Given the description of an element on the screen output the (x, y) to click on. 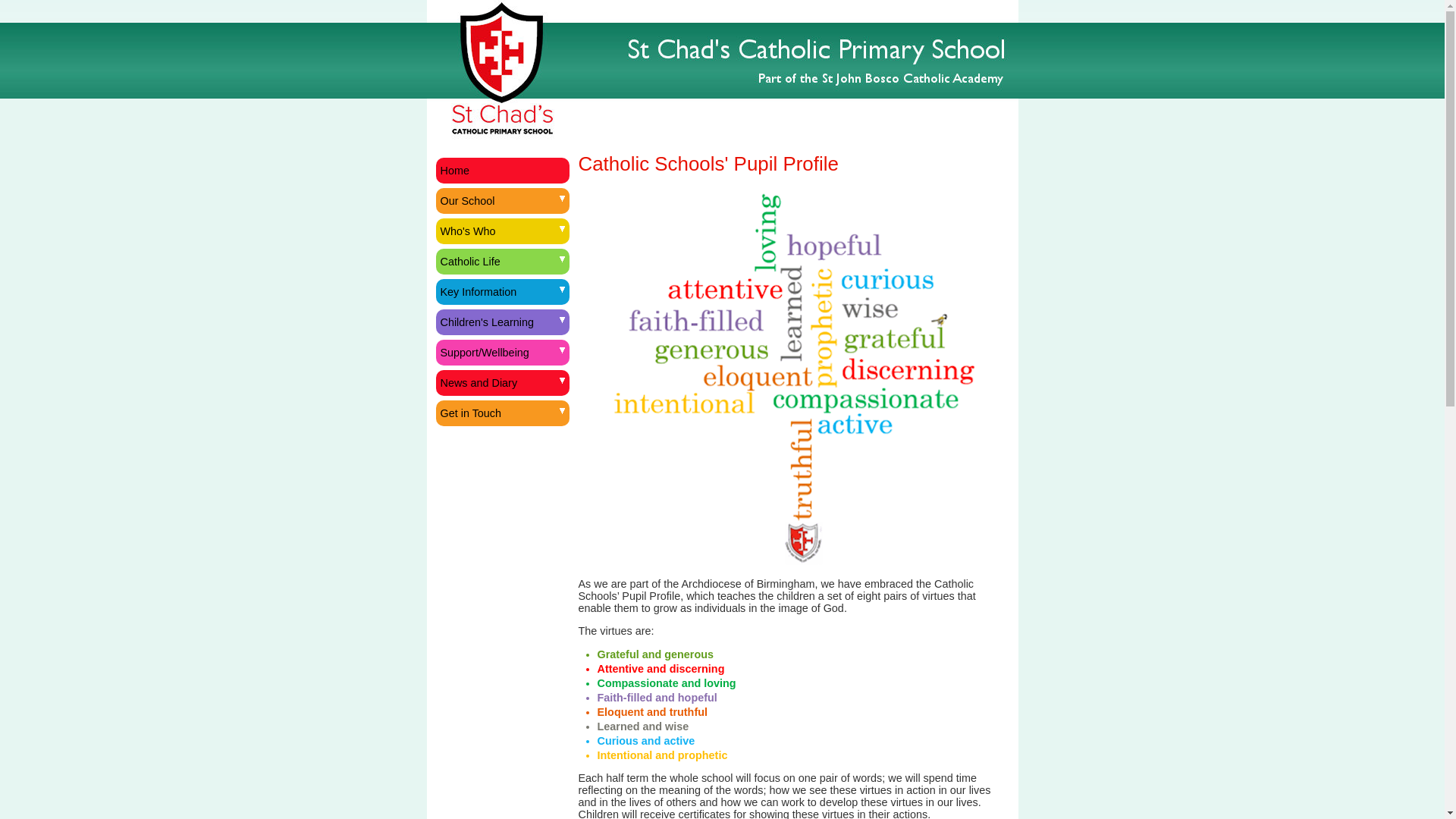
Key Information (502, 291)
Who's Who (502, 231)
Home (502, 170)
Our School (502, 200)
Children's Learning (502, 321)
Catholic Life (502, 261)
